Given the description of an element on the screen output the (x, y) to click on. 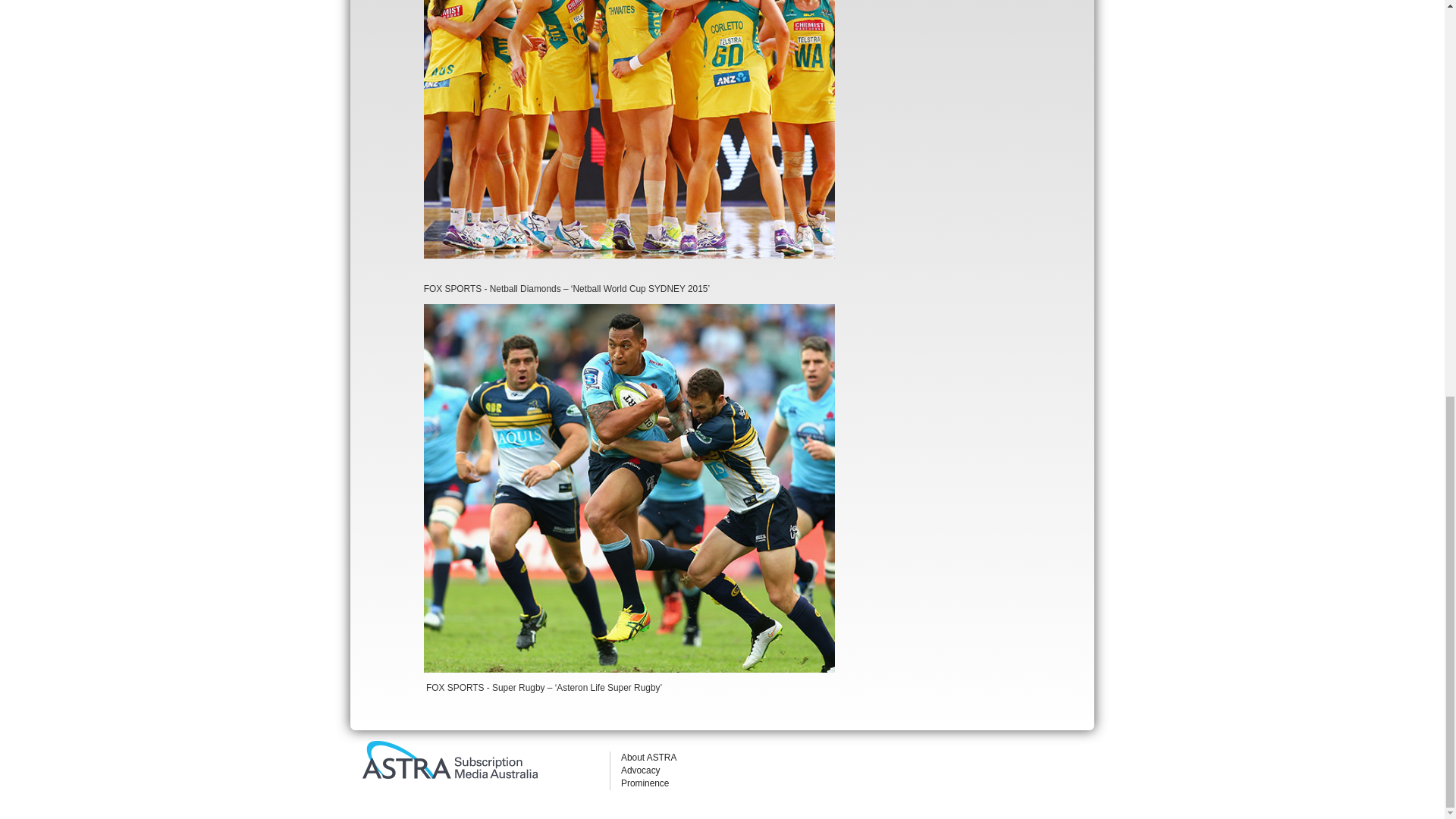
About ASTRA (649, 757)
Advocacy (641, 769)
Prominence (644, 783)
